Given the description of an element on the screen output the (x, y) to click on. 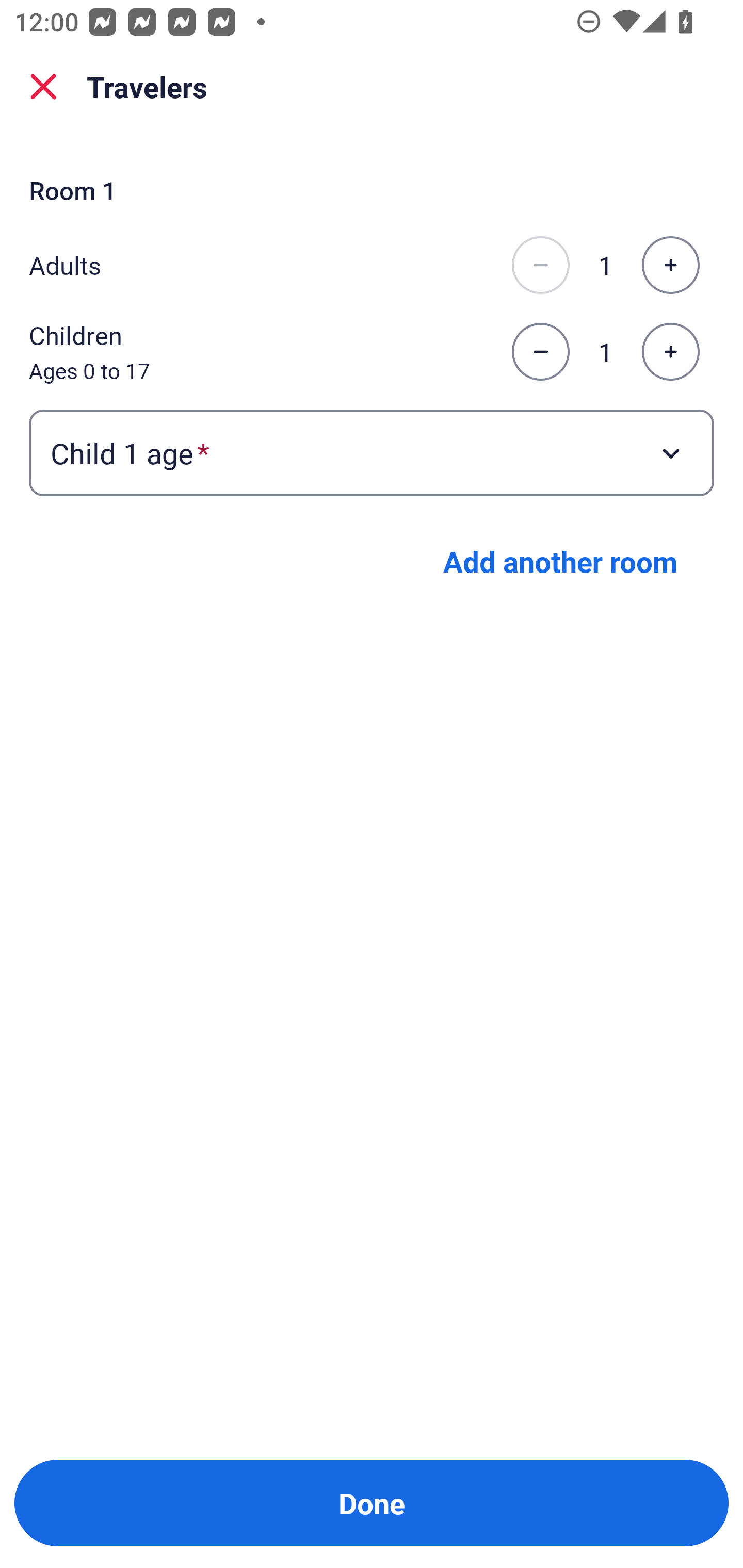
close (43, 86)
Decrease the number of adults (540, 264)
Increase the number of adults (670, 264)
Decrease the number of children (540, 351)
Increase the number of children (670, 351)
Child 1 age required Button (371, 452)
Add another room (560, 561)
Done (371, 1502)
